Given the description of an element on the screen output the (x, y) to click on. 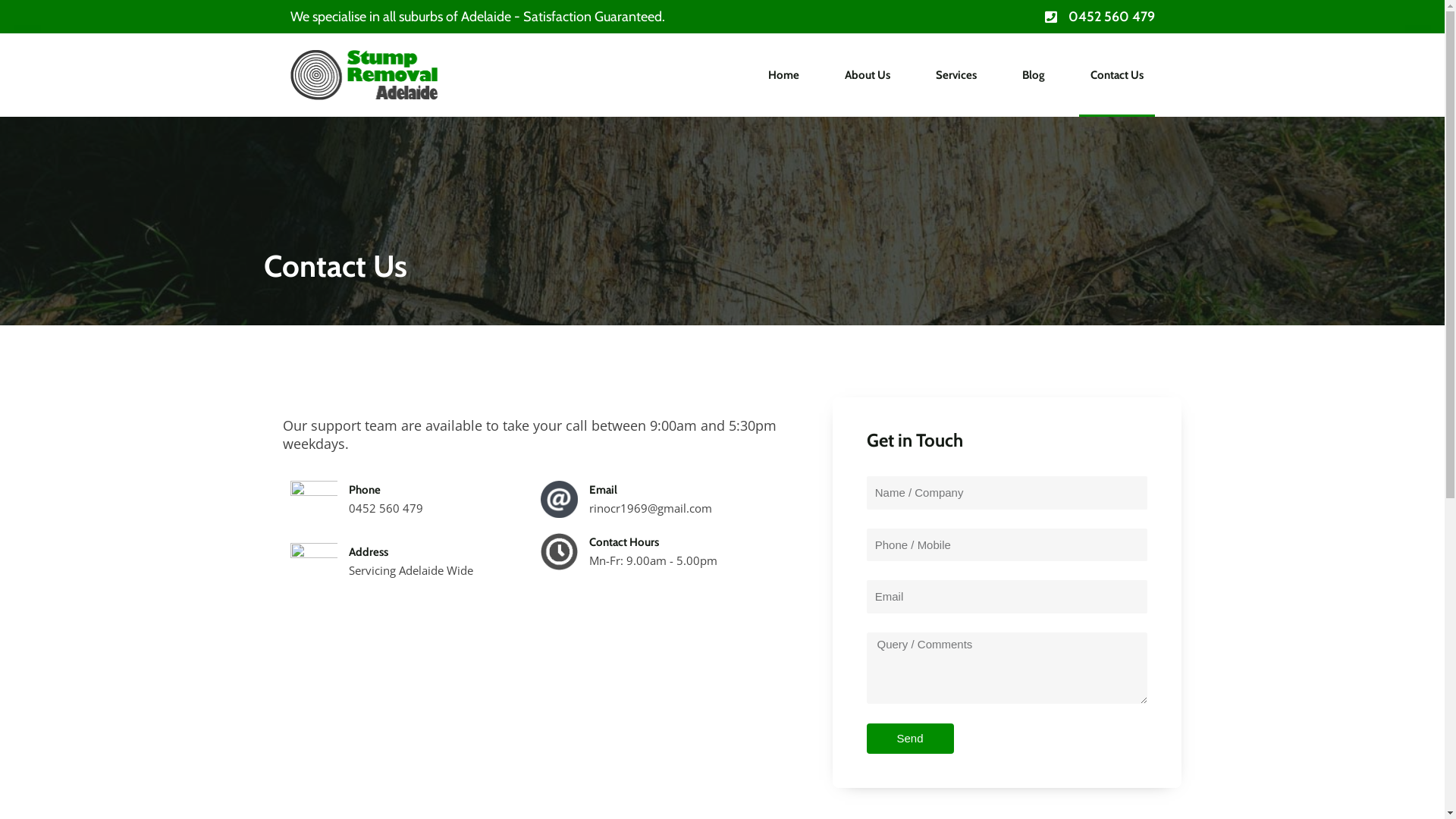
Services Element type: text (955, 74)
Email Element type: text (603, 488)
Phone Element type: text (364, 488)
Blog Element type: text (1032, 74)
Send Element type: text (909, 738)
Contact Hours Element type: text (623, 542)
Home Element type: text (783, 74)
About Us Element type: text (866, 74)
Contact Us Element type: text (1116, 74)
0452 560 479 Element type: text (937, 16)
